Given the description of an element on the screen output the (x, y) to click on. 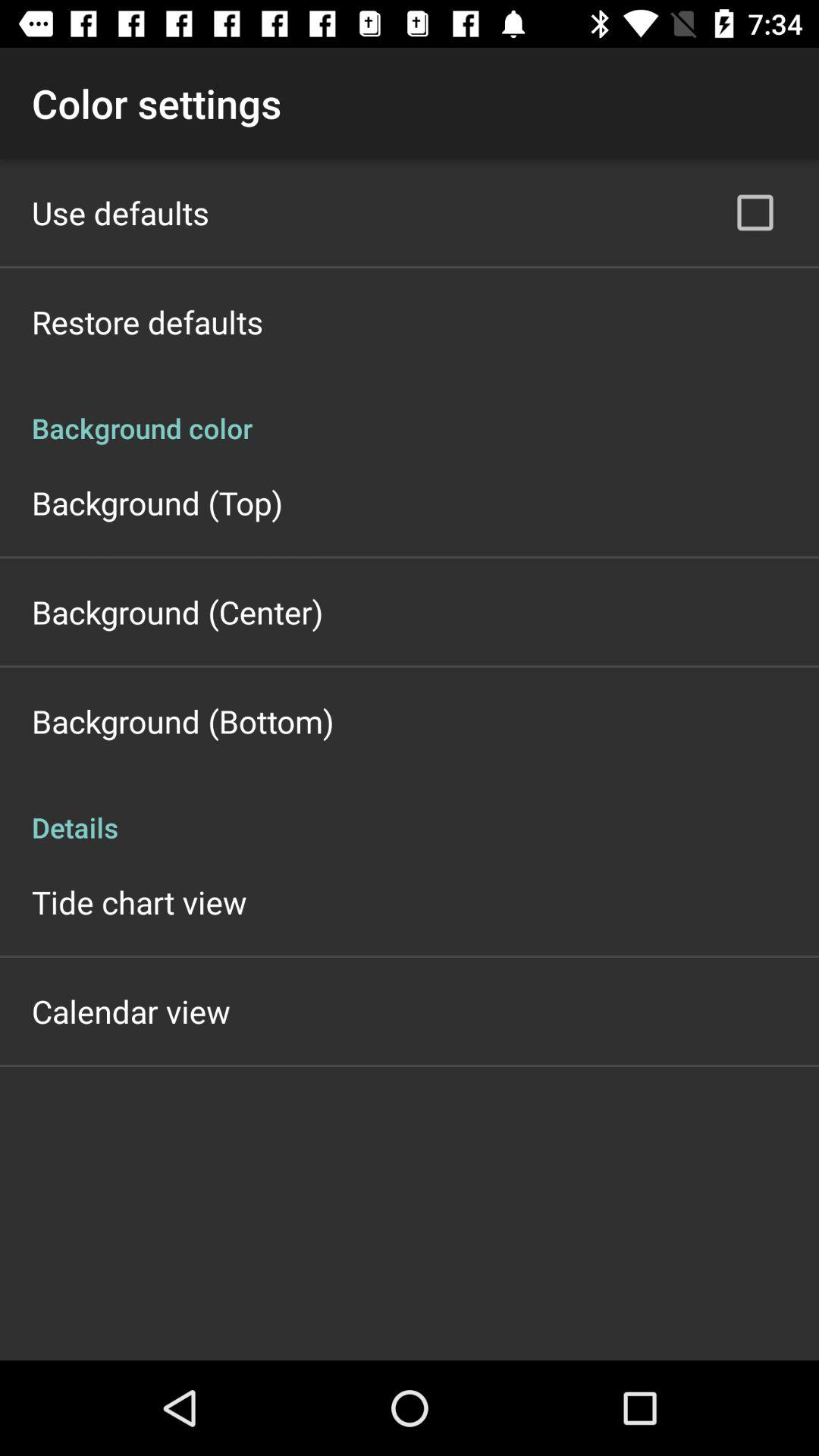
click the app above background color icon (755, 212)
